Given the description of an element on the screen output the (x, y) to click on. 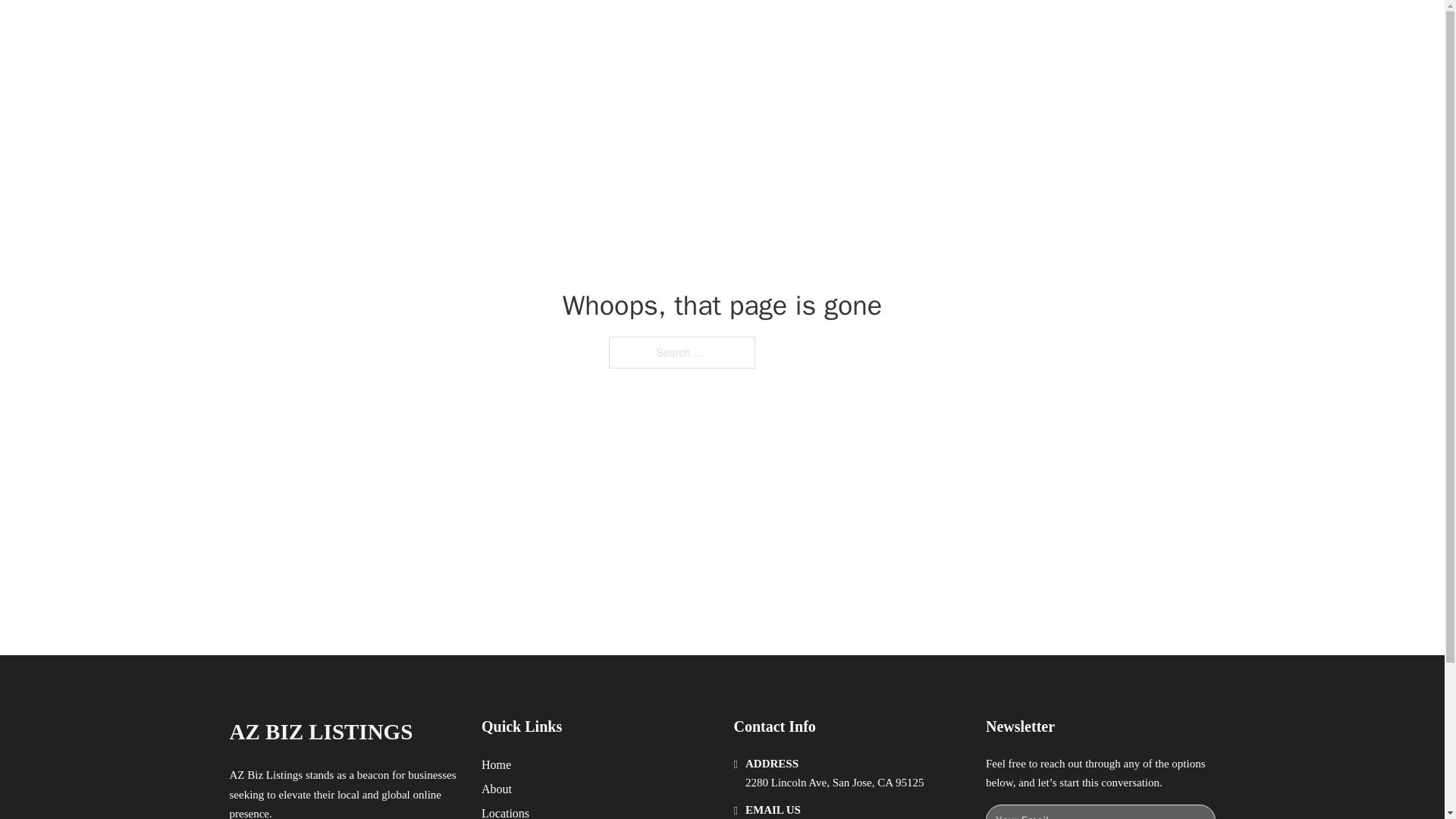
HOME (919, 29)
LOCATIONS (990, 29)
AZ BIZ LISTINGS (320, 732)
Home (496, 764)
About (496, 788)
AZ BIZ LISTINGS (393, 28)
Locations (505, 811)
